Given the description of an element on the screen output the (x, y) to click on. 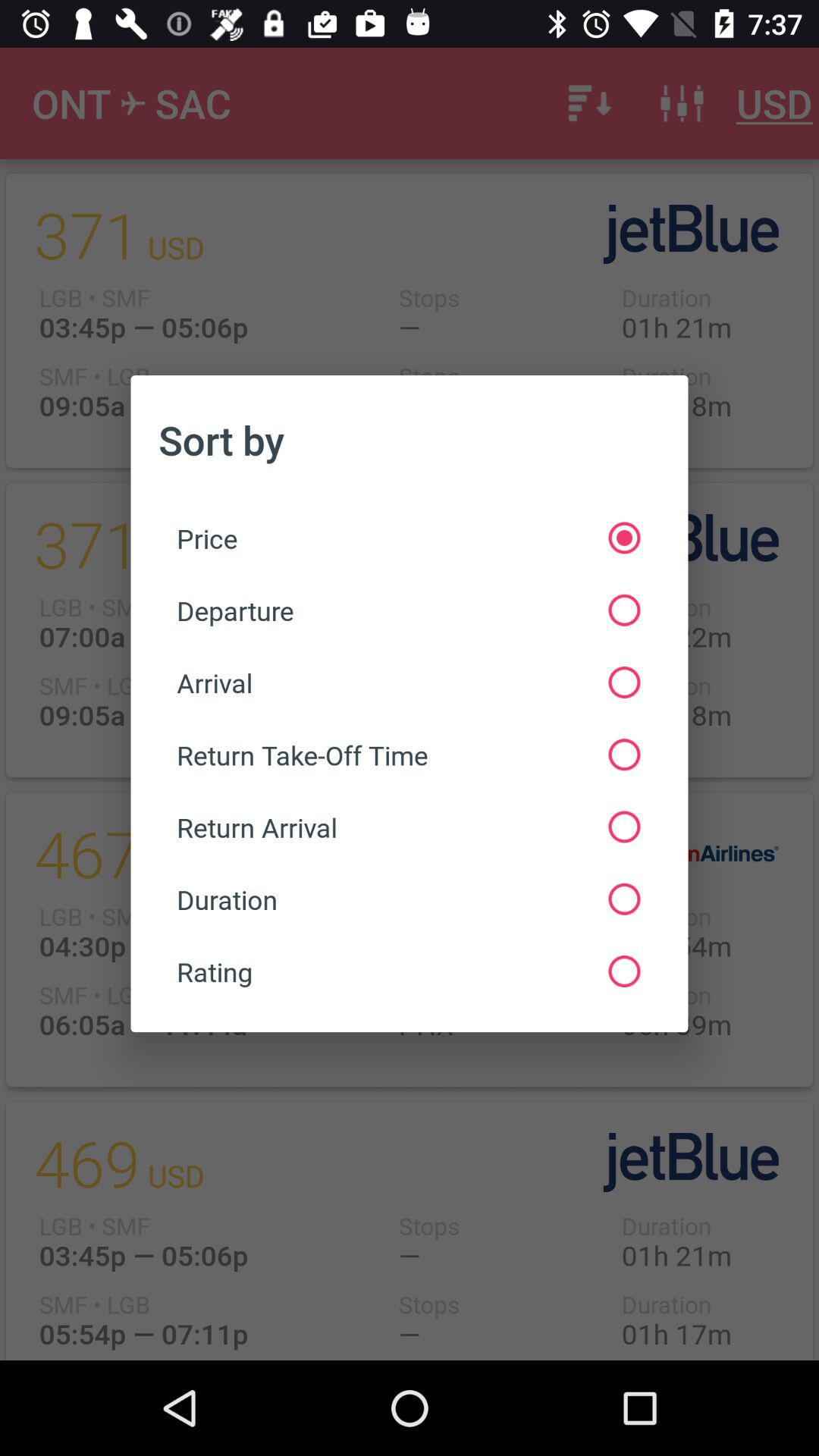
choose the icon above return arrival icon (408, 754)
